Given the description of an element on the screen output the (x, y) to click on. 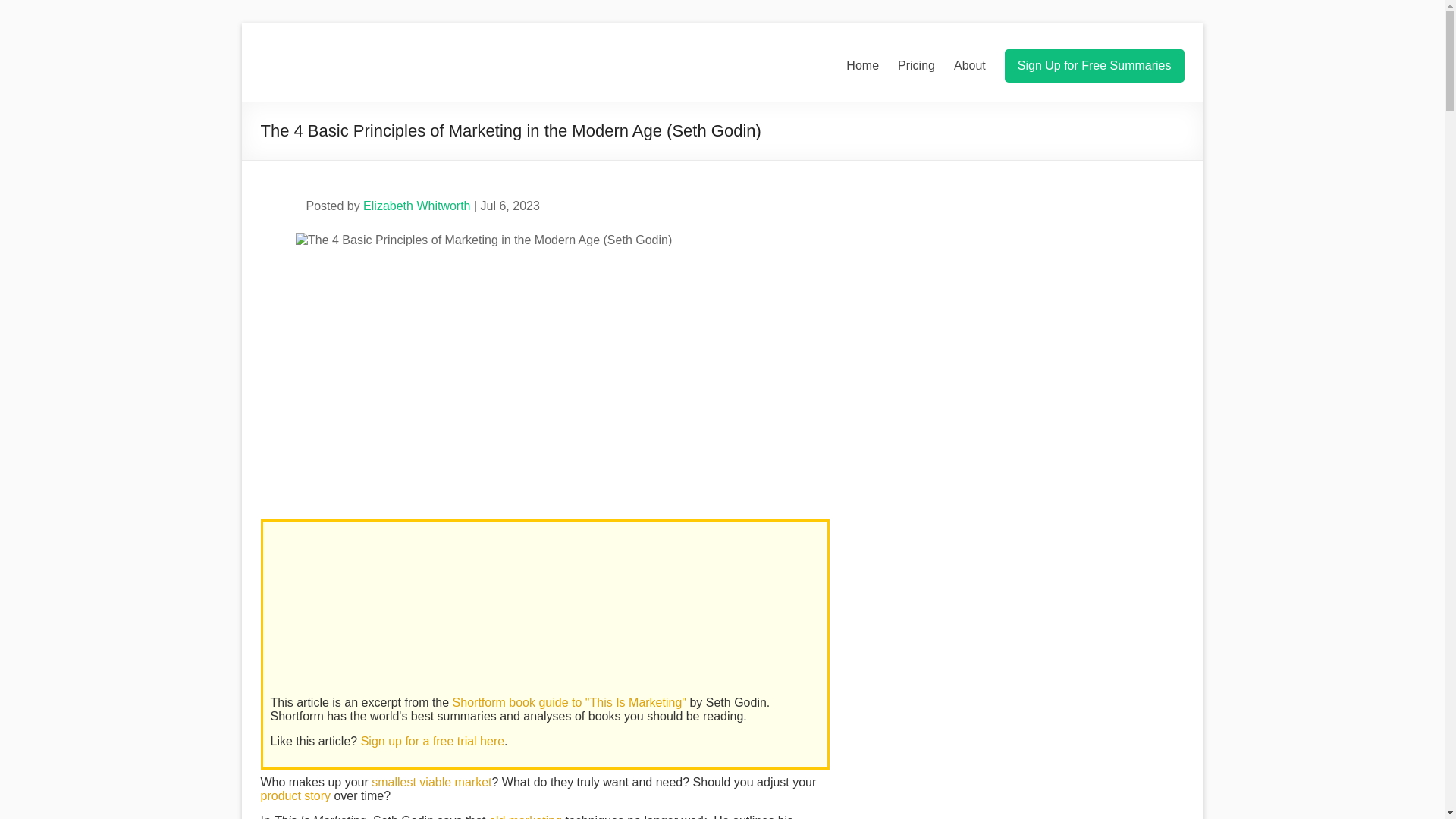
About (969, 65)
product story (295, 795)
old marketing (525, 816)
Pricing (916, 65)
Sign up for a free trial here (432, 740)
Shortform book guide to "This Is Marketing" (568, 702)
Home (862, 65)
Sign Up for Free Summaries (1094, 65)
smallest viable market (431, 781)
Elizabeth Whitworth (416, 205)
